Given the description of an element on the screen output the (x, y) to click on. 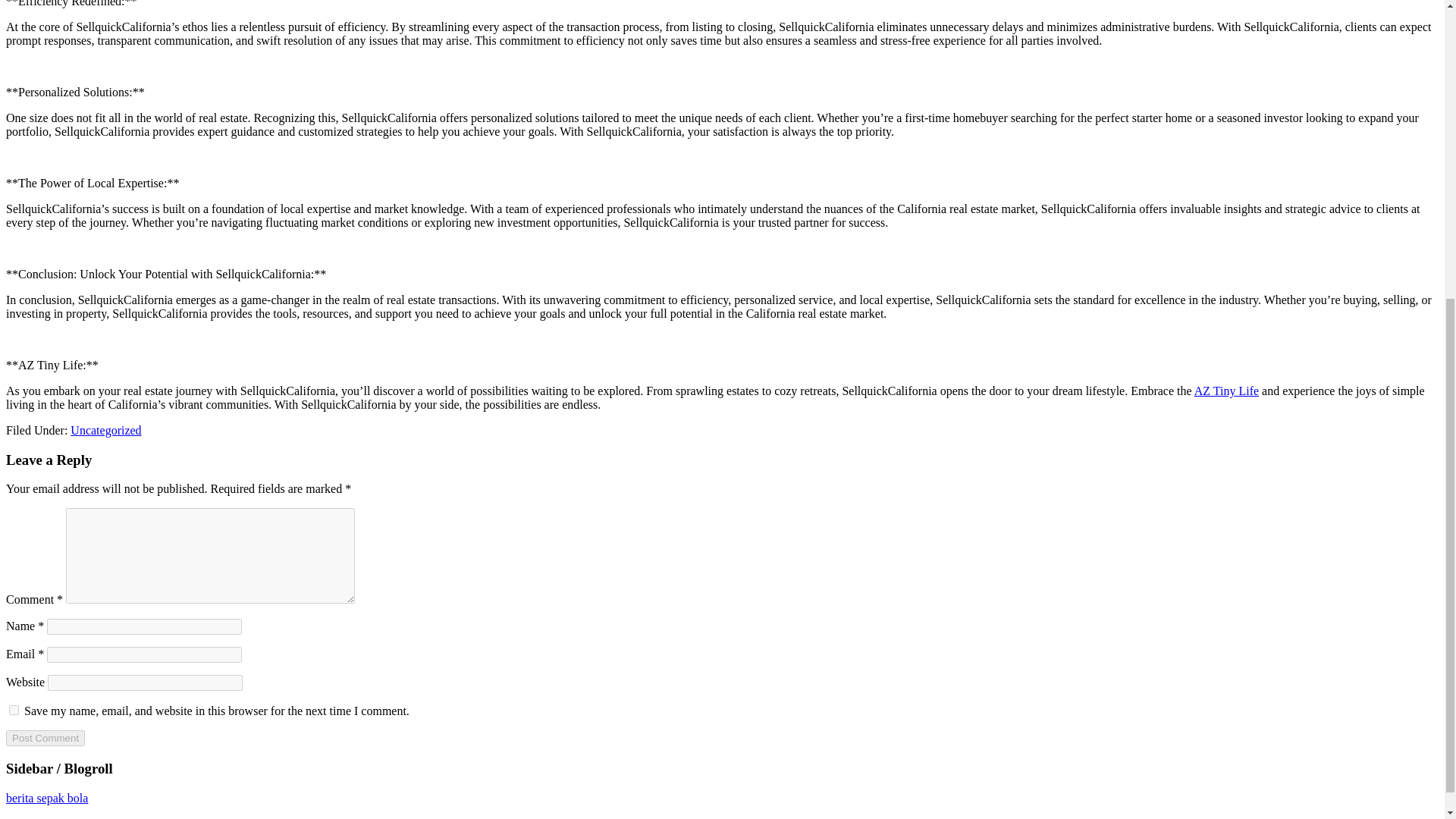
berita sepak bola (46, 797)
Post Comment (44, 738)
yes (13, 709)
Post Comment (44, 738)
AZ Tiny Life (1226, 390)
Uncategorized (105, 430)
